Given the description of an element on the screen output the (x, y) to click on. 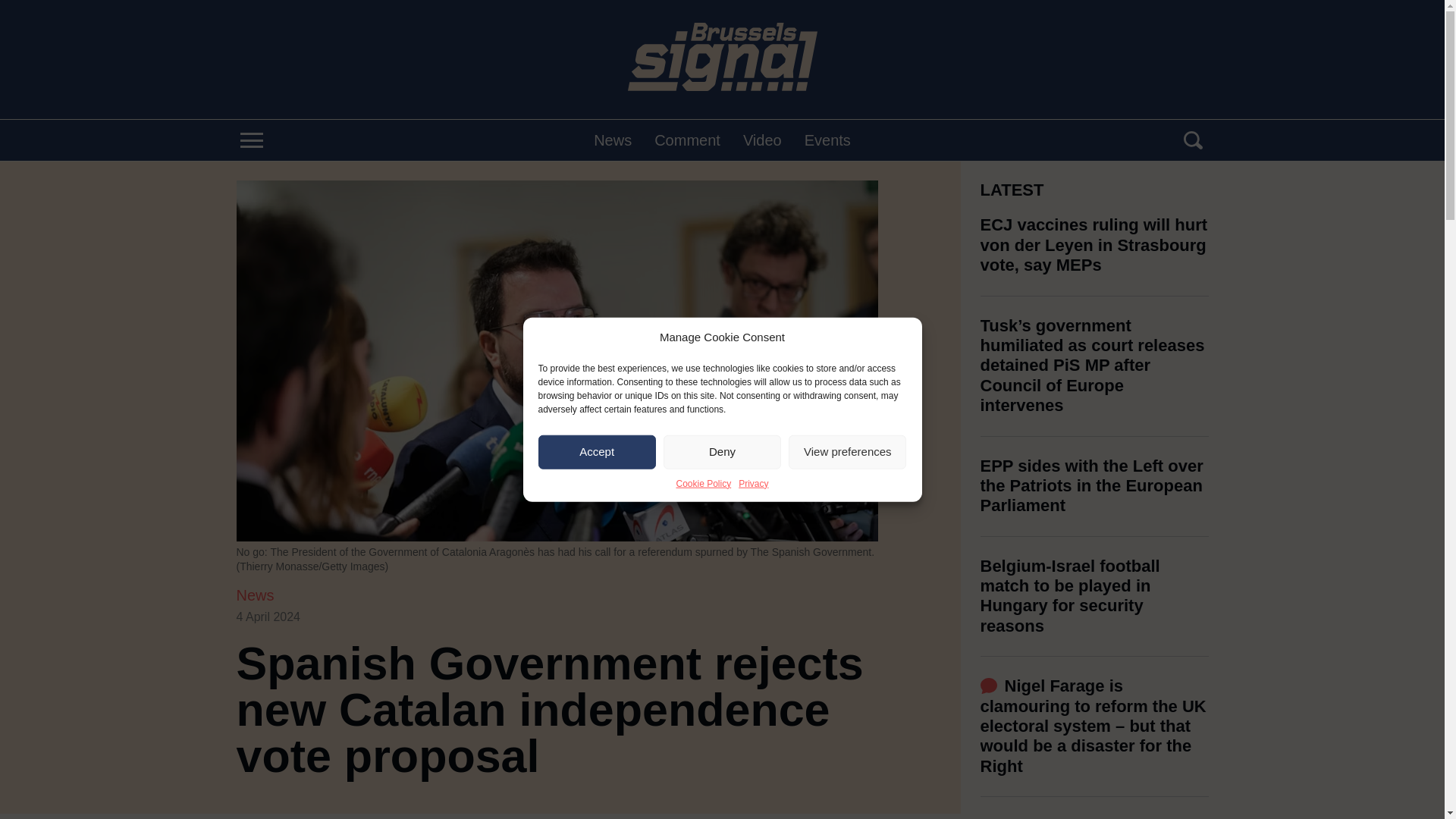
Privacy (753, 482)
Comment (686, 140)
Cookie Policy (702, 482)
Video (761, 140)
View preferences (847, 451)
Deny (721, 451)
News (612, 140)
Events (827, 140)
Accept (597, 451)
News (255, 595)
